Given the description of an element on the screen output the (x, y) to click on. 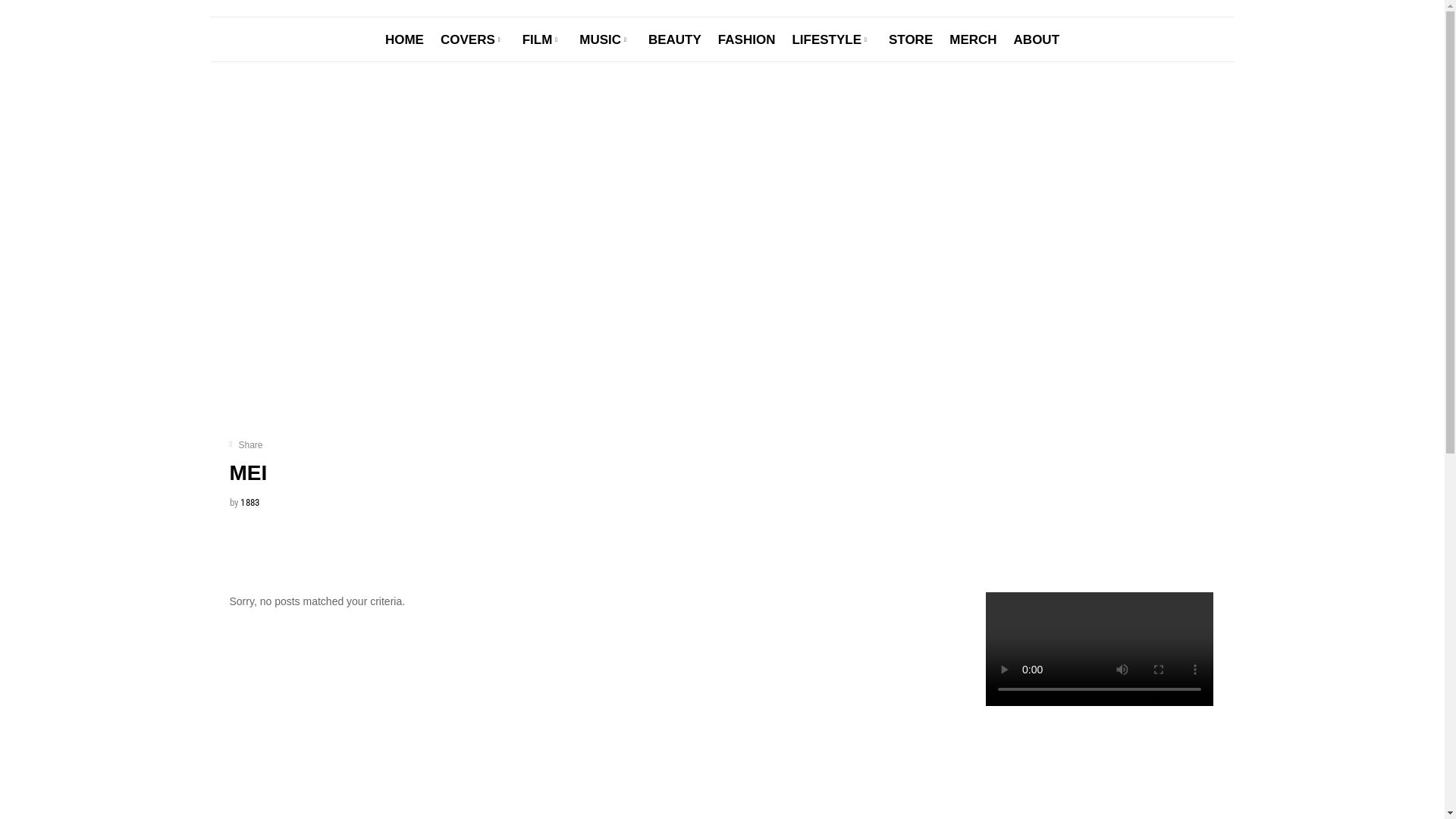
FILM Element type: text (542, 39)
MUSIC Element type: text (605, 39)
FASHION Element type: text (746, 39)
MEI Element type: text (247, 472)
1883 Element type: text (249, 502)
STORE Element type: text (910, 39)
BEAUTY Element type: text (674, 39)
LIFESTYLE Element type: text (831, 39)
MEI Element type: hover (553, 286)
Share Element type: text (245, 444)
HOME Element type: text (404, 39)
ABOUT Element type: text (1036, 39)
COVERS Element type: text (473, 39)
MERCH Element type: text (972, 39)
